Given the description of an element on the screen output the (x, y) to click on. 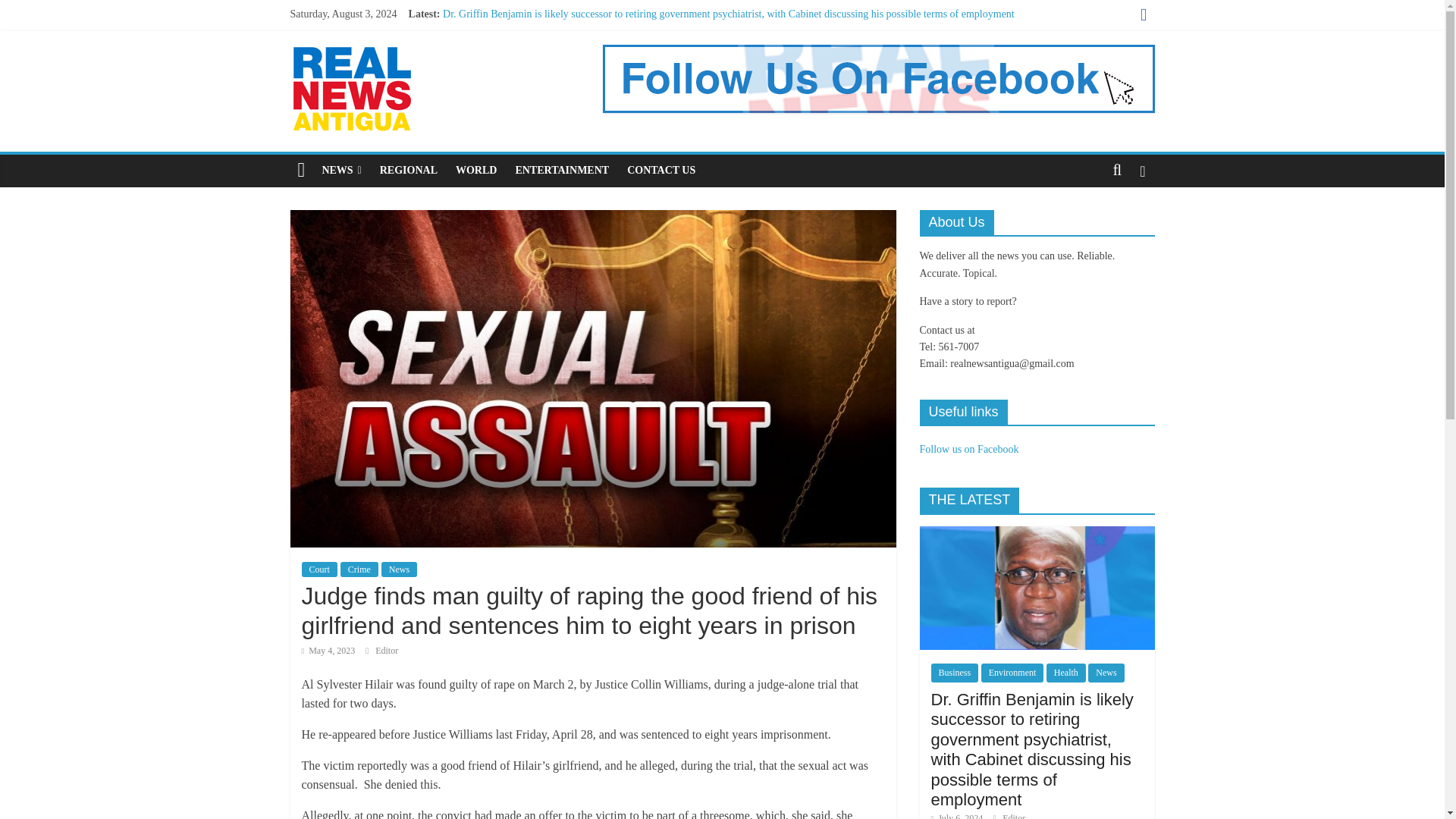
WORLD (475, 170)
CONTACT US (660, 170)
News (398, 569)
NEWS (341, 170)
REGIONAL (408, 170)
May 4, 2023 (328, 650)
Editor (386, 650)
Editor (386, 650)
Court (319, 569)
Crime (359, 569)
